Given the description of an element on the screen output the (x, y) to click on. 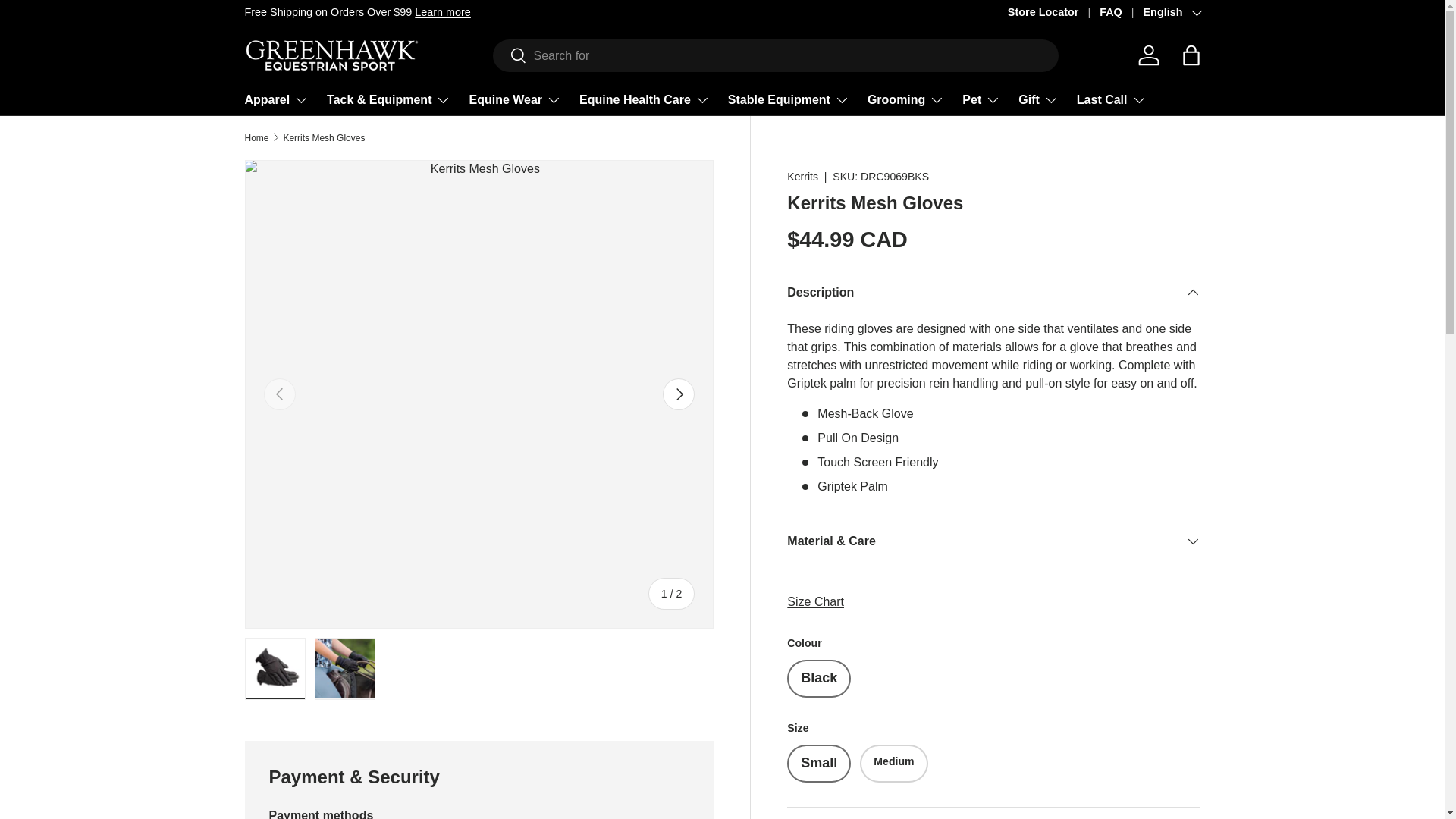
Log in (1147, 55)
Learn more (442, 11)
Search (510, 56)
Store Locator (1053, 12)
Bag (1190, 55)
Apparel (276, 100)
Skip to content (69, 21)
English (1170, 12)
FAQ (1120, 12)
free-shipping (442, 11)
